Given the description of an element on the screen output the (x, y) to click on. 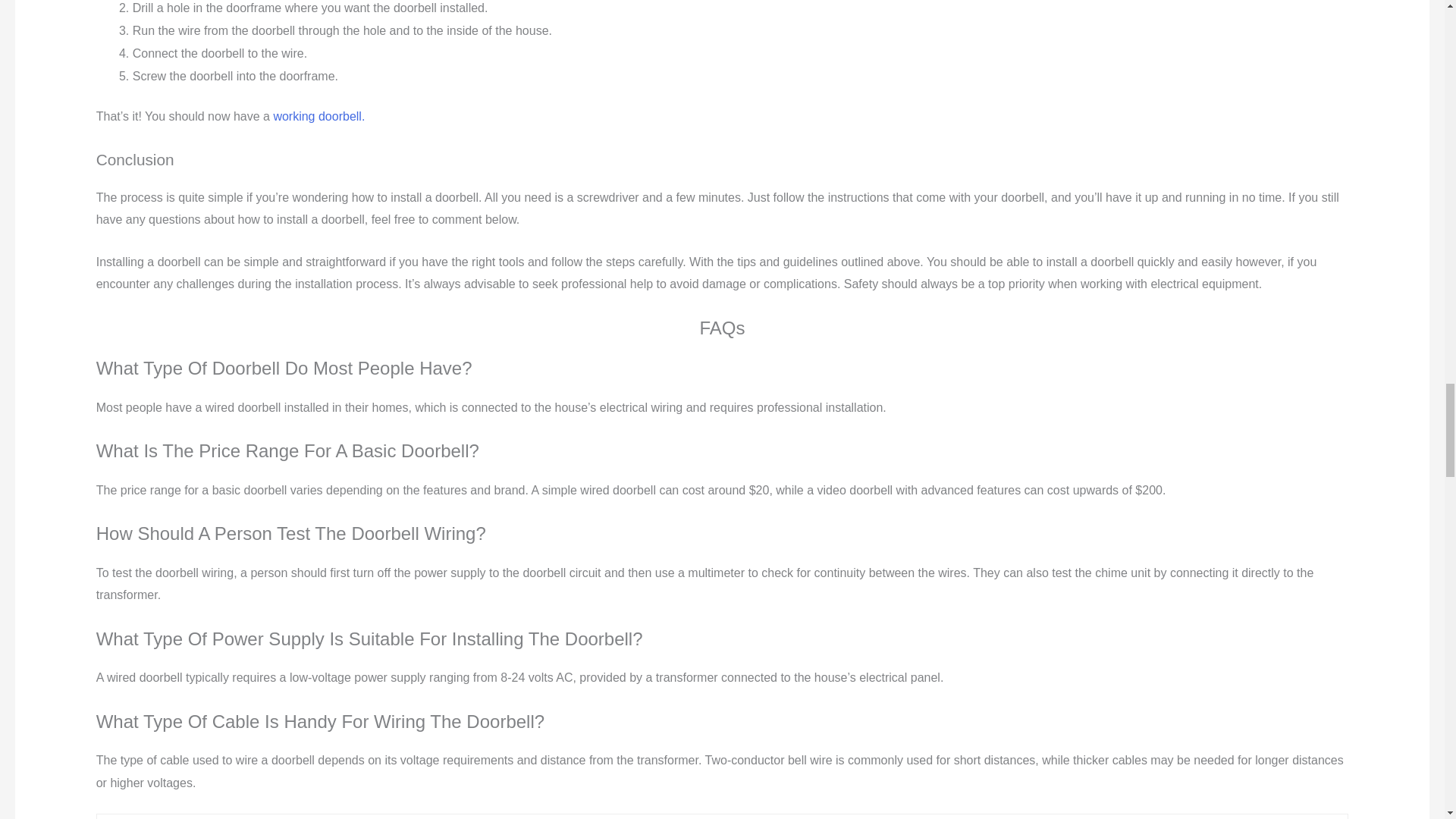
working doorbell. (319, 115)
